Given the description of an element on the screen output the (x, y) to click on. 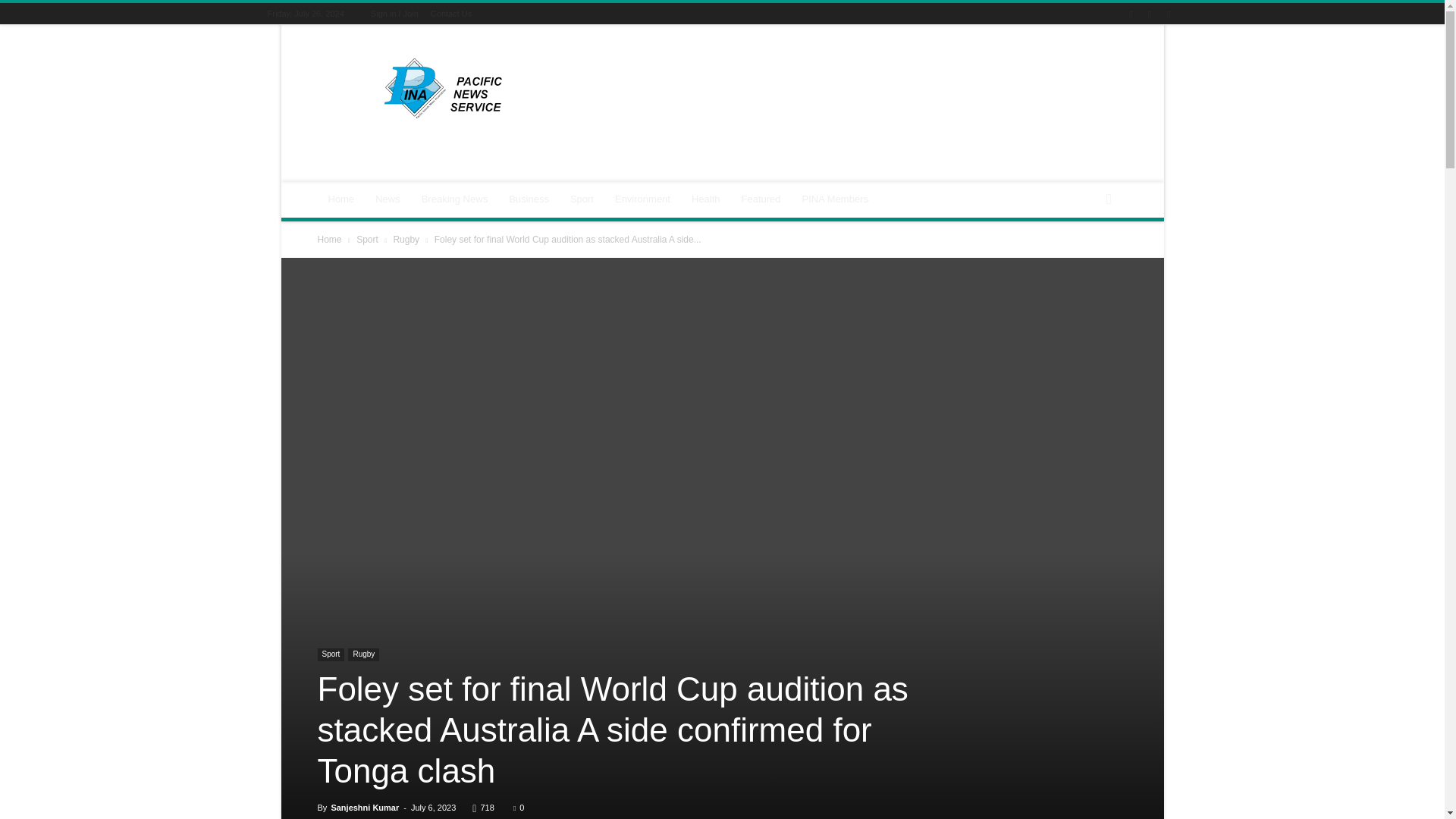
Pacific Islands News Association (445, 88)
Contact Us (450, 13)
Home (341, 198)
News (387, 198)
